Given the description of an element on the screen output the (x, y) to click on. 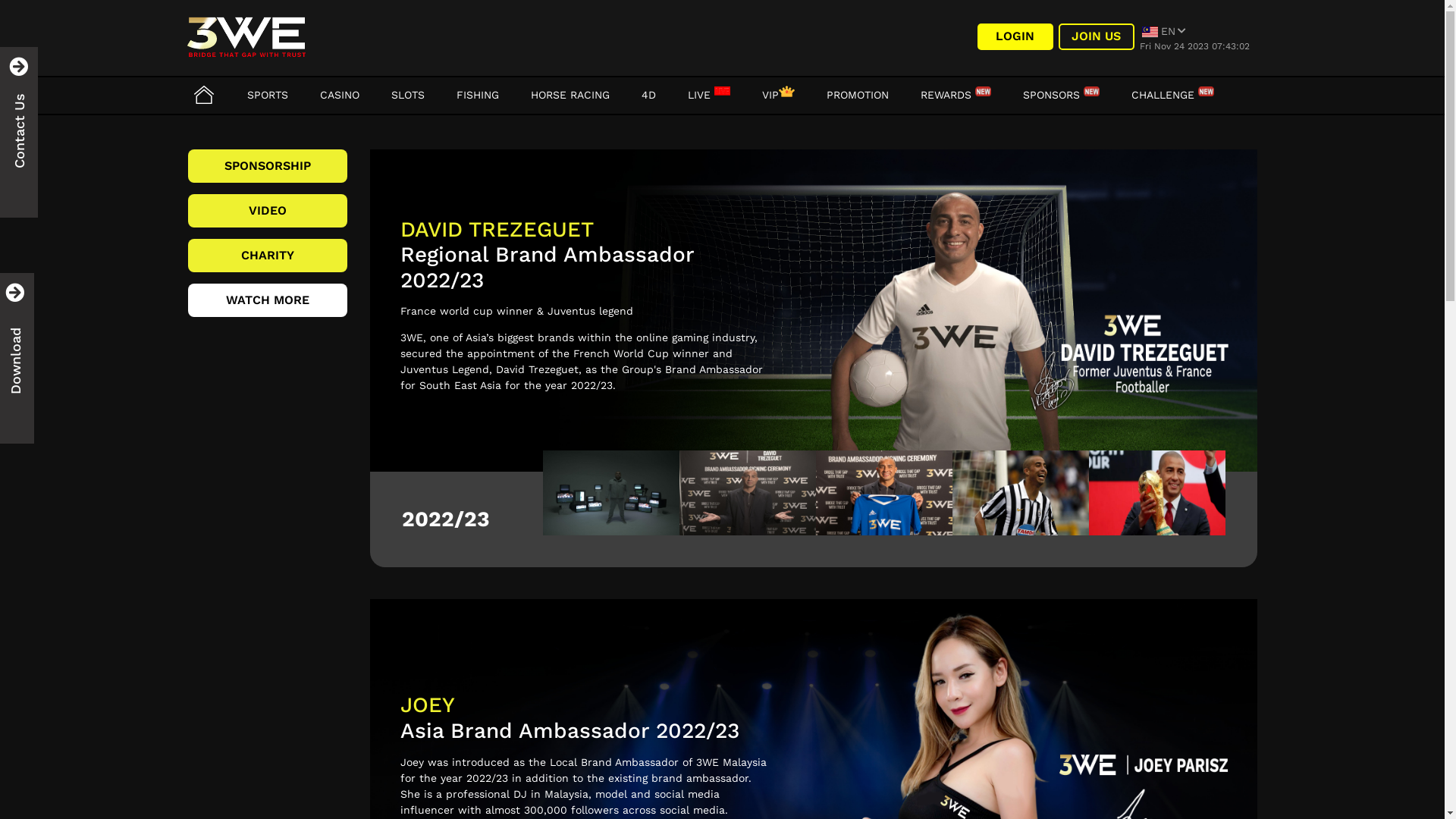
LOGIN Element type: text (1014, 35)
CASINO Element type: text (339, 94)
JOIN US Element type: text (1096, 35)
VIP Element type: text (777, 94)
LIVE Element type: text (708, 94)
4D Element type: text (648, 94)
SPORTS Element type: text (267, 94)
WATCH MORE Element type: text (267, 299)
HORSE RACING Element type: text (569, 94)
FISHING Element type: text (477, 94)
LOGIN Element type: text (1014, 35)
PROMOTION Element type: text (857, 94)
CHALLENGE Element type: text (1172, 94)
SPONSORS Element type: text (1060, 94)
SLOTS Element type: text (407, 94)
REWARDS Element type: text (955, 94)
JOIN US Element type: text (1095, 35)
